Given the description of an element on the screen output the (x, y) to click on. 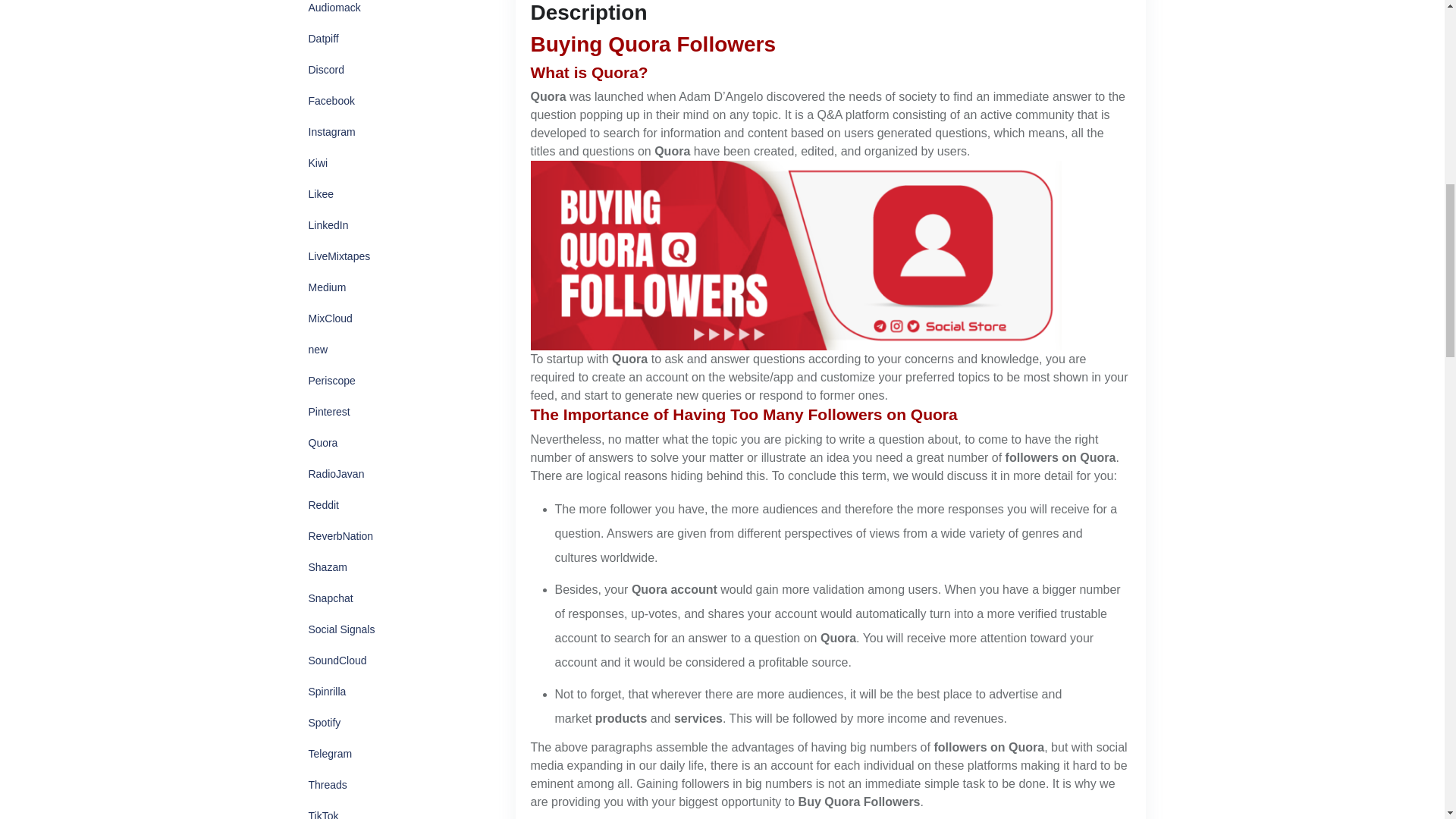
Datpiff (322, 39)
Audiomack (333, 11)
